Given the description of an element on the screen output the (x, y) to click on. 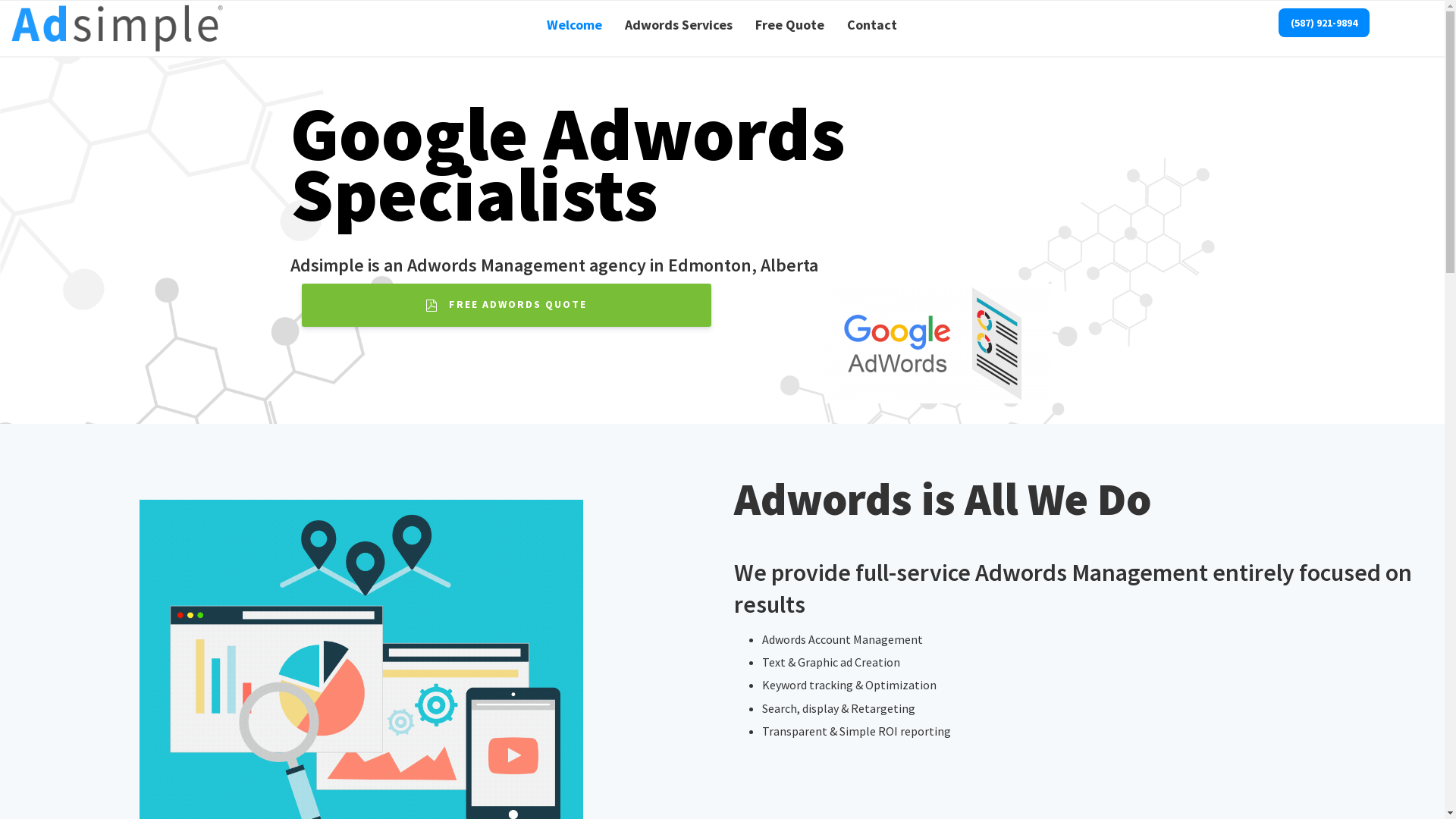
Welcome Element type: text (574, 20)
(587) 921-9894 Element type: text (1323, 22)
Adwords Specialists for Small Businesses & Contractors Element type: hover (120, 28)
Adwords Services Element type: text (678, 20)
Contact Element type: text (872, 20)
Free Quote Element type: text (789, 20)
FREE ADWORDS QUOTE Element type: text (506, 304)
